Given the description of an element on the screen output the (x, y) to click on. 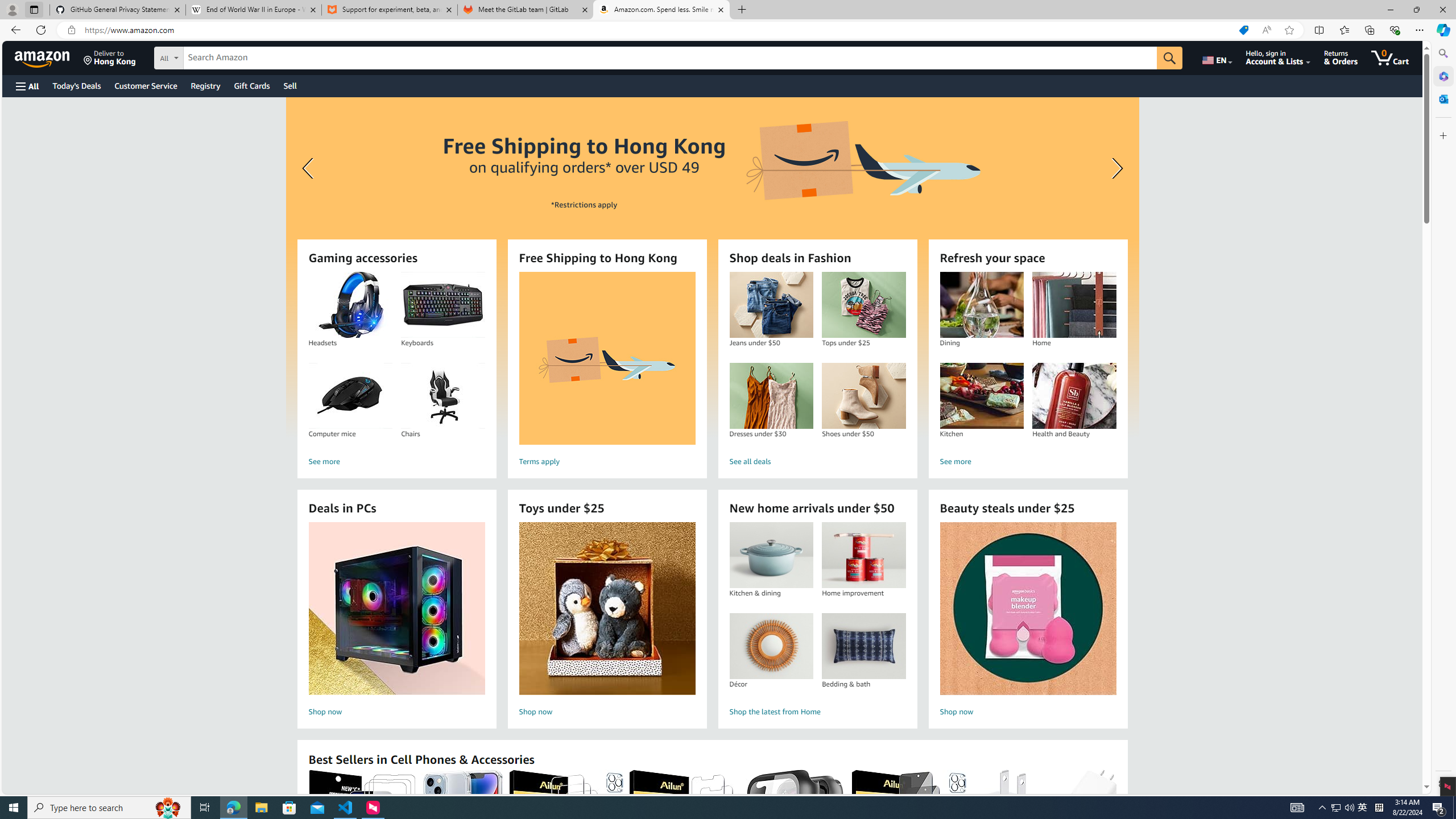
Kitchen & dining (771, 555)
Health and Beauty (1074, 395)
Free Shipping to Hong Kong Learn more (711, 267)
